Given the description of an element on the screen output the (x, y) to click on. 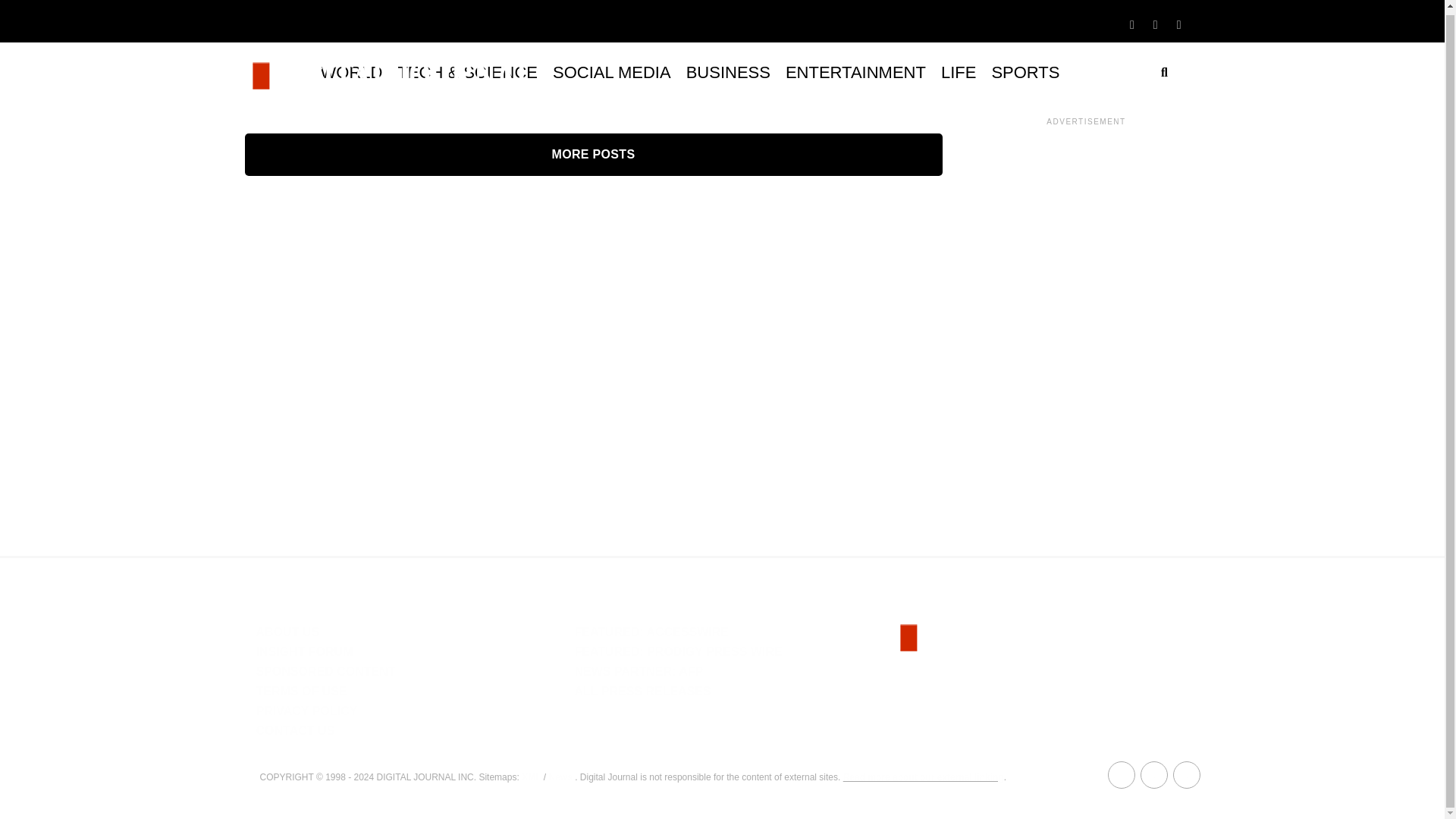
SPONSORED CONTENT (326, 671)
News (560, 776)
BUSINESS (727, 72)
MORE POSTS (593, 154)
ABOUT US (288, 631)
WORLD (351, 72)
SPORTS (1025, 72)
FEATURED: PRODIGY PRESS WIRE (677, 651)
SOCIAL MEDIA (611, 72)
ALL PRESS RELEASES (641, 690)
INSIGHT FORUM (304, 651)
CONTACT US (295, 730)
TERMS OF USE (301, 690)
NEWS PARTNER: AFP (638, 671)
ENTERTAINMENT (855, 72)
